Given the description of an element on the screen output the (x, y) to click on. 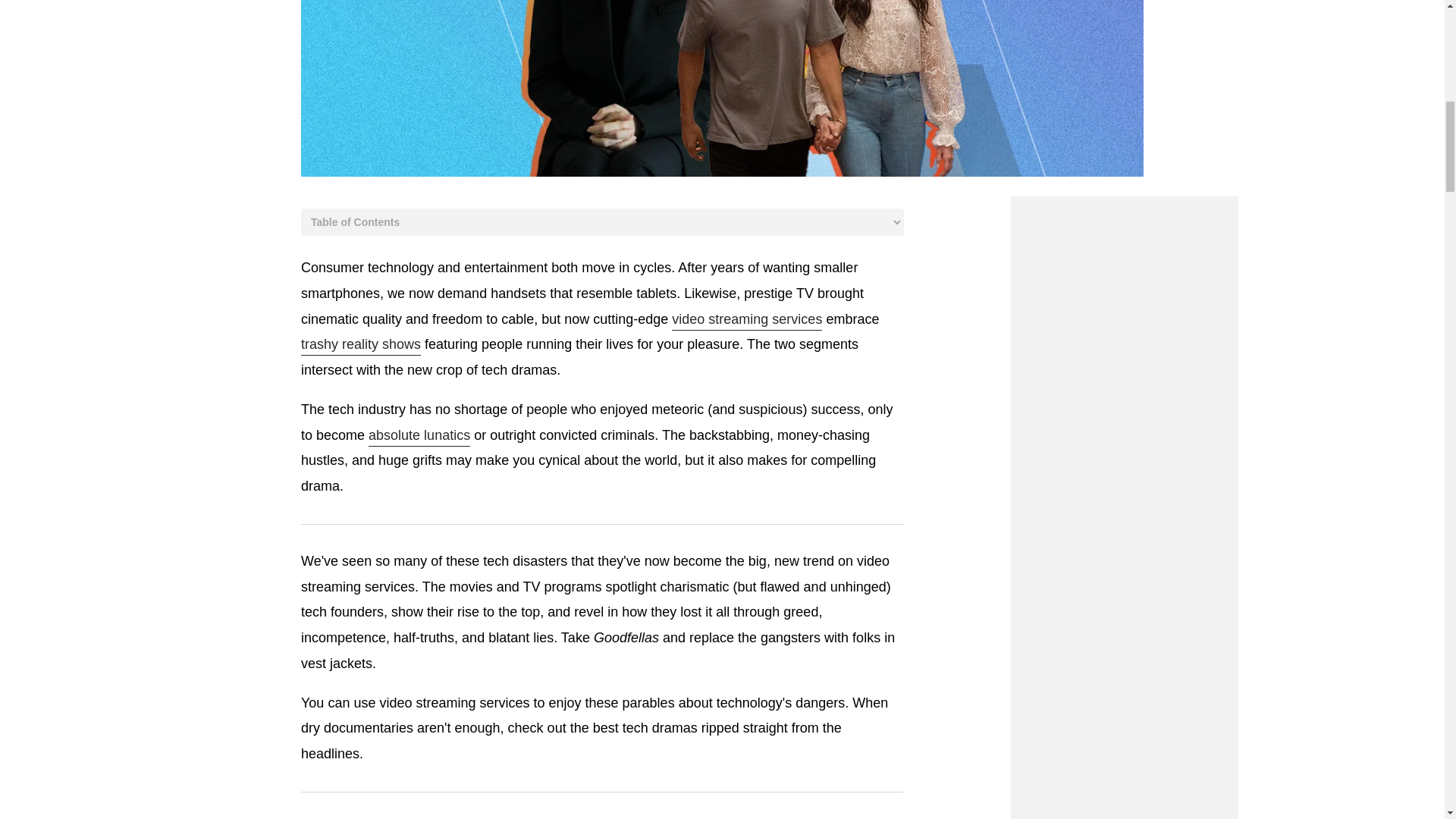
absolute lunatics (419, 436)
video streaming services (746, 320)
trashy reality shows (360, 345)
